Given the description of an element on the screen output the (x, y) to click on. 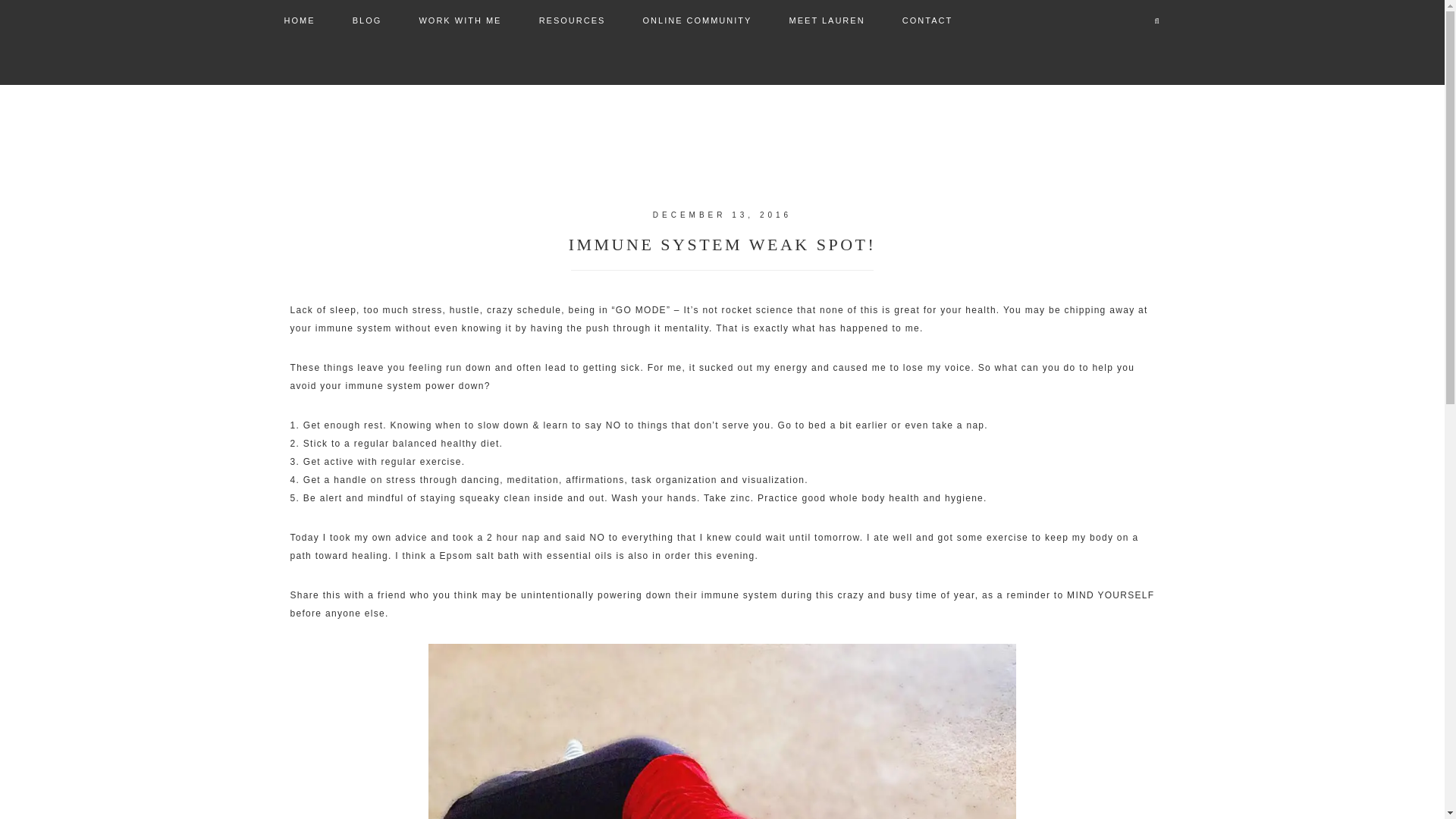
LAUREN MAJEWSKI (722, 115)
BLOG (367, 20)
RESOURCES (572, 20)
ONLINE COMMUNITY (697, 20)
CONTACT (927, 20)
WORK WITH ME (459, 20)
HOME (298, 20)
MEET LAUREN (827, 20)
